Given the description of an element on the screen output the (x, y) to click on. 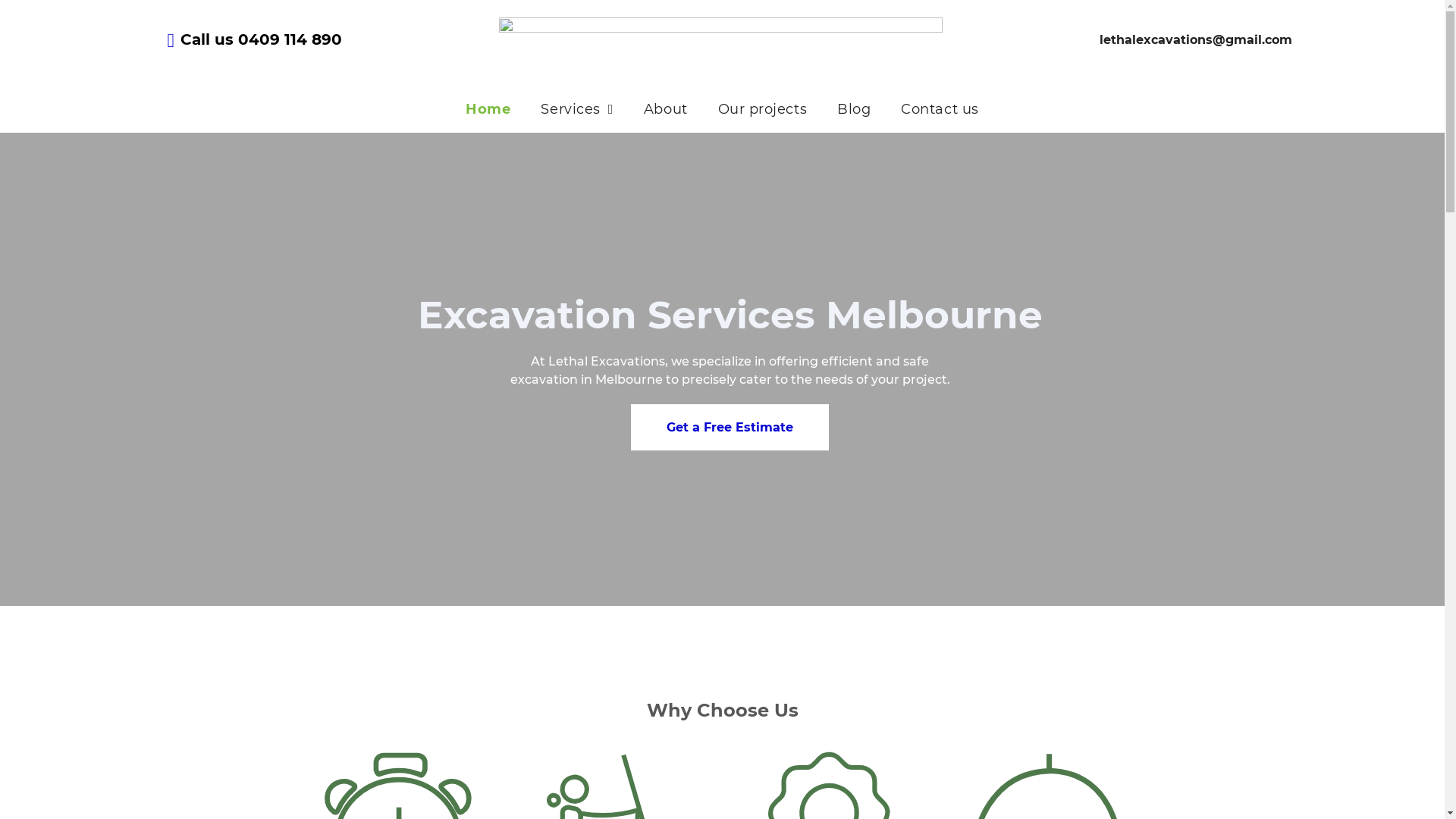
Home Element type: text (487, 109)
Our projects Element type: text (762, 109)
Call us 0409 114 890 Element type: text (260, 39)
xcavation Services Melbourne Element type: text (741, 314)
Blog Element type: text (853, 109)
Contact us Element type: text (939, 109)
About Element type: text (665, 109)
Get a Free Estimate Element type: text (729, 427)
lethalexcavations@gmail.com Element type: text (1195, 39)
Services Element type: text (576, 109)
